Given the description of an element on the screen output the (x, y) to click on. 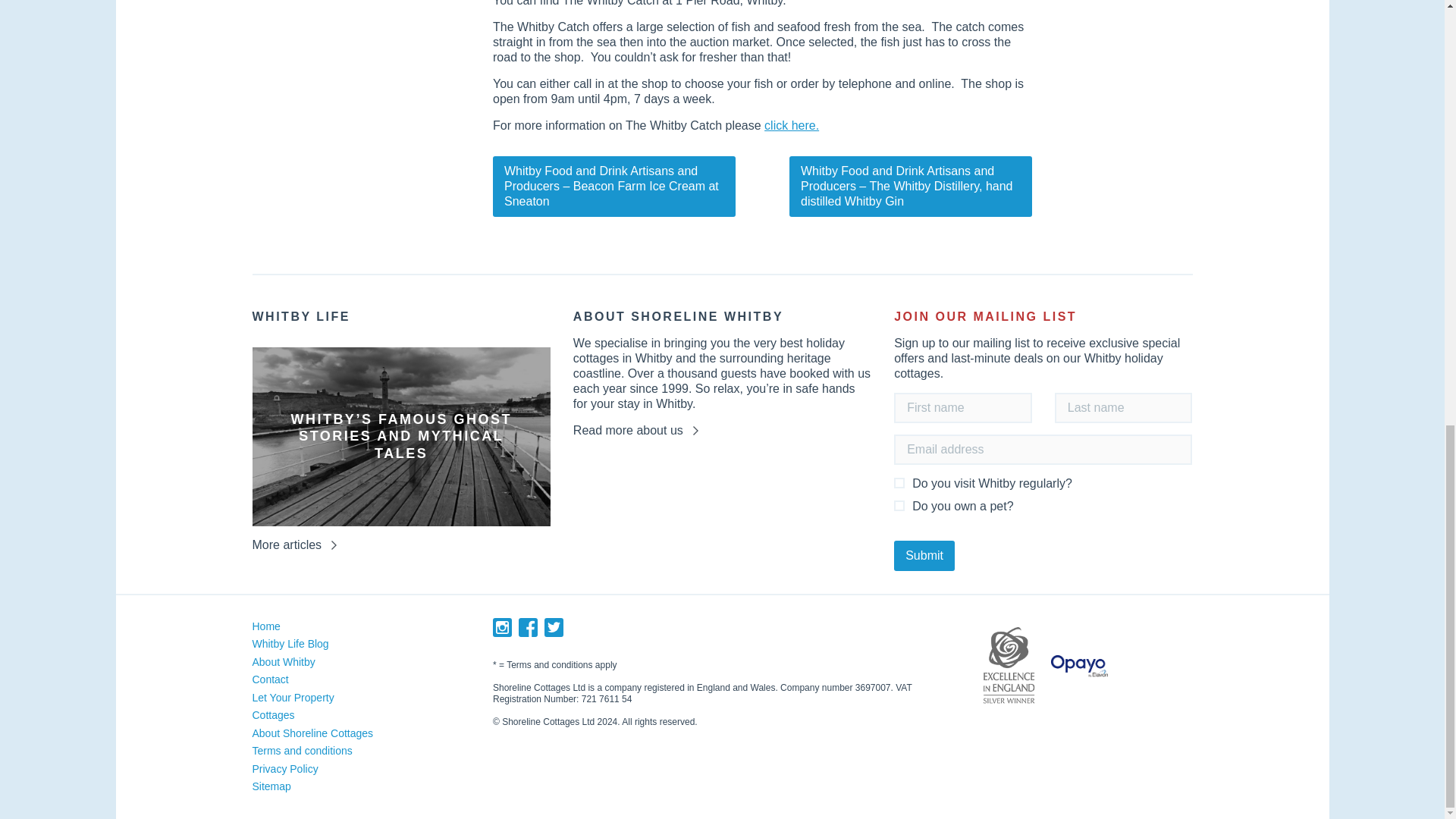
click here. (791, 124)
ABOUT SHORELINE WHITBY (721, 322)
WHITBY LIFE (400, 322)
More articles (293, 544)
Submit (924, 555)
Read more about us (635, 430)
